Given the description of an element on the screen output the (x, y) to click on. 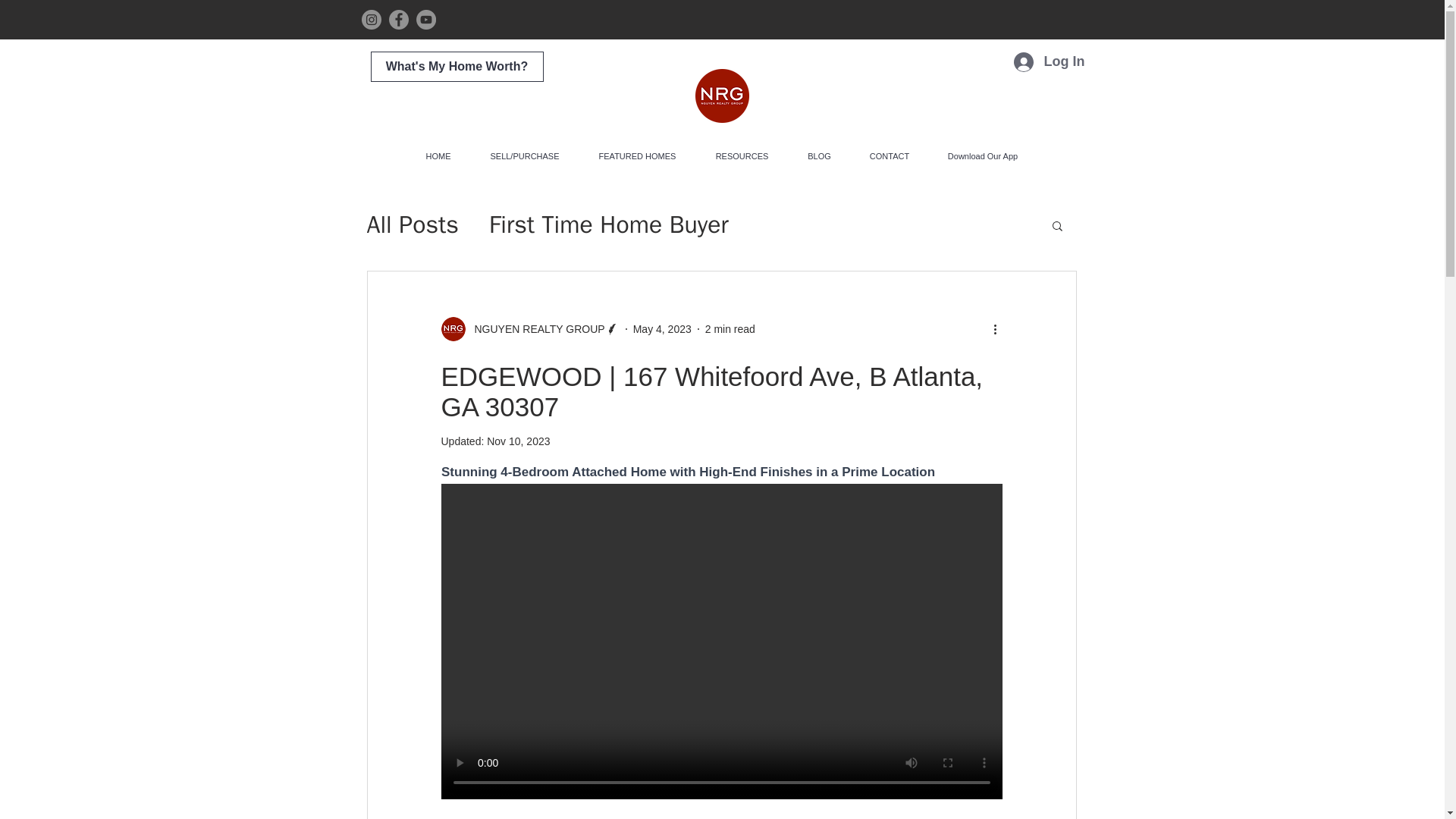
First Time Home Buyer (609, 224)
CONTACT (889, 156)
Log In (1046, 61)
2 min read (729, 328)
Download Our App (982, 156)
NGUYEN REALTY GROUP (535, 329)
NGUYEN REALTY GROUP (530, 328)
May 4, 2023 (662, 328)
All Posts (412, 224)
What's My Home Worth? (456, 66)
Nov 10, 2023 (518, 440)
HOME (438, 156)
BLOG (819, 156)
RESOURCES (742, 156)
